Given the description of an element on the screen output the (x, y) to click on. 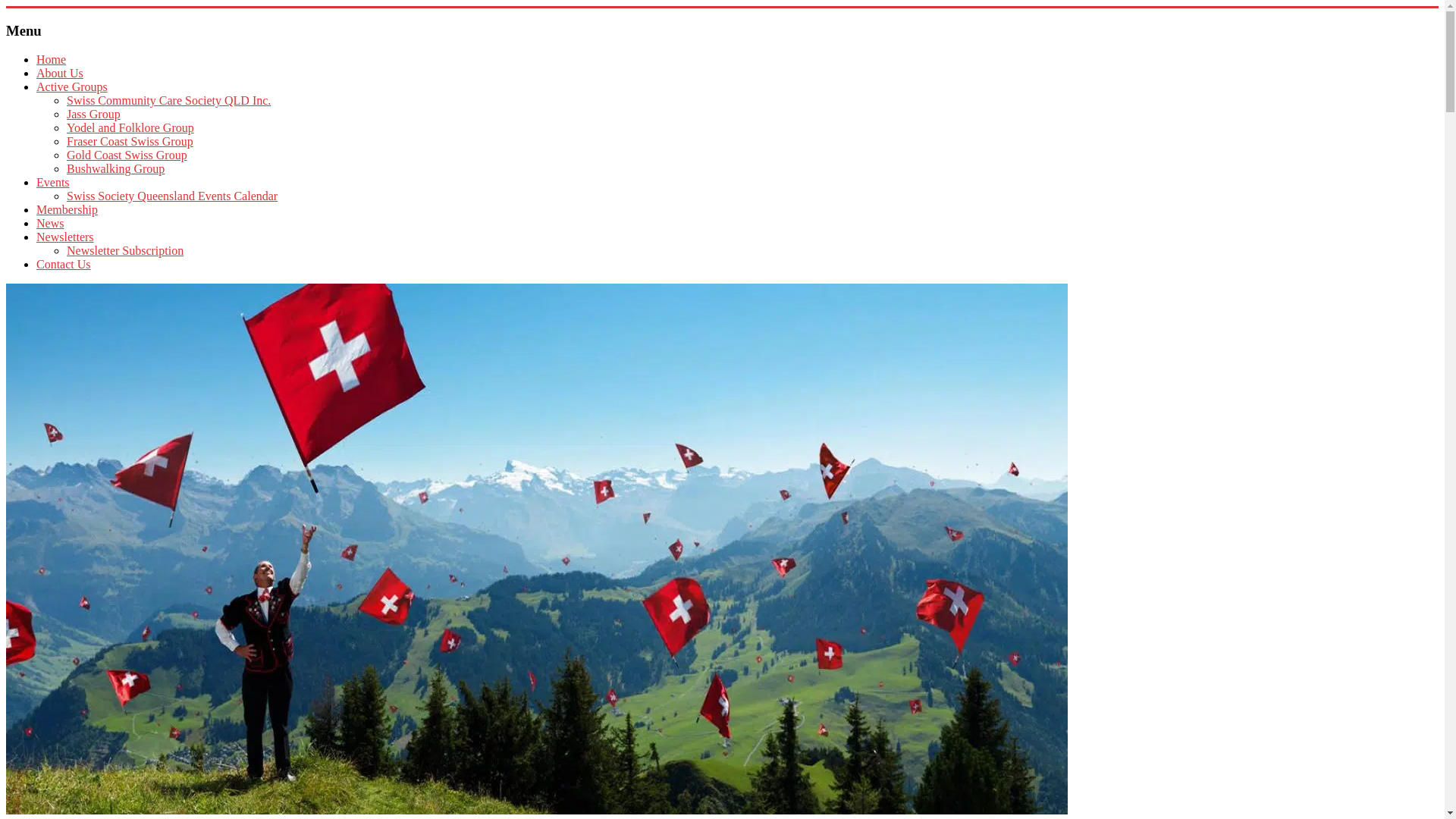
Bushwalking Group Element type: text (115, 168)
News Element type: text (49, 222)
Yodel and Folklore Group Element type: text (130, 127)
Home Element type: text (50, 59)
Swiss Community Care Society QLD Inc. Element type: text (168, 100)
Swiss Society Queensland Events Calendar Element type: text (171, 195)
Newsletter Subscription Element type: text (124, 250)
Membership Element type: text (66, 209)
Fraser Coast Swiss Group Element type: text (129, 140)
Skip to content Element type: text (5, 7)
Events Element type: text (52, 181)
About Us Element type: text (59, 72)
Gold Coast Swiss Group Element type: text (126, 154)
Jass Group Element type: text (93, 113)
Active Groups Element type: text (71, 86)
Newsletters Element type: text (65, 236)
Contact Us Element type: text (63, 263)
